Given the description of an element on the screen output the (x, y) to click on. 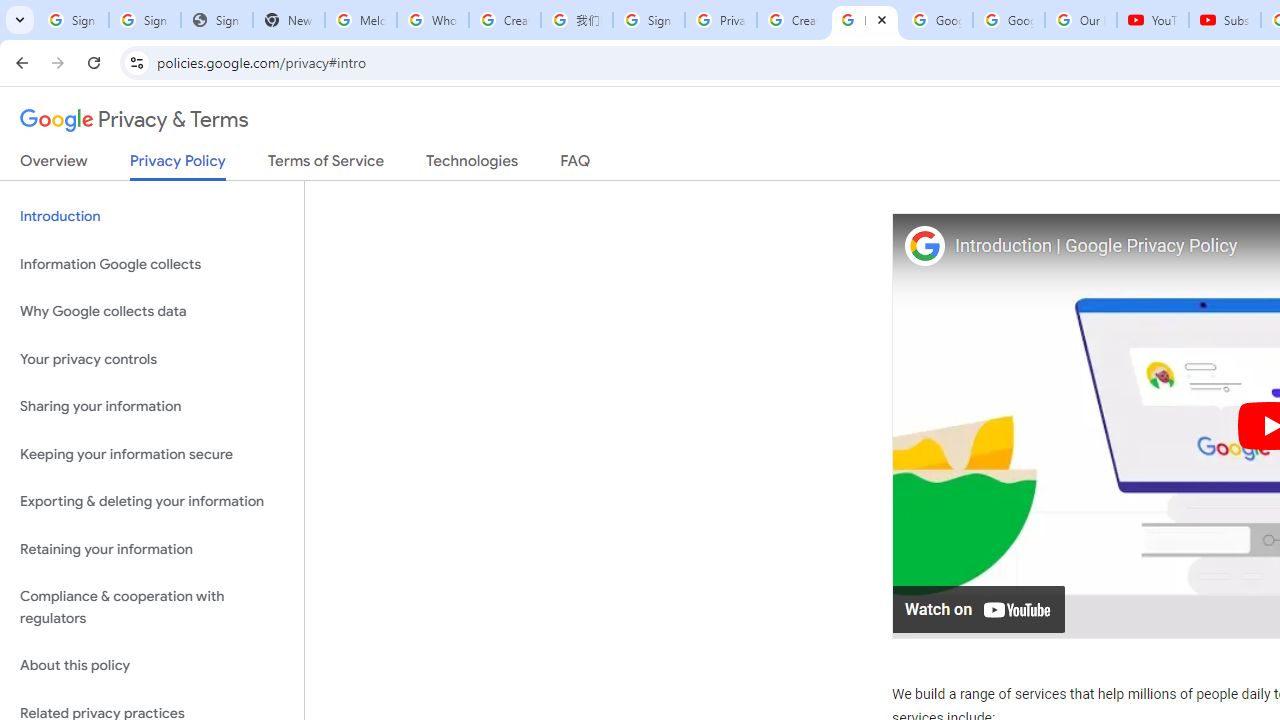
Sign in - Google Accounts (144, 20)
Watch on YouTube (979, 608)
Create your Google Account (504, 20)
Your privacy controls (152, 358)
Sign in - Google Accounts (648, 20)
Keeping your information secure (152, 453)
